Given the description of an element on the screen output the (x, y) to click on. 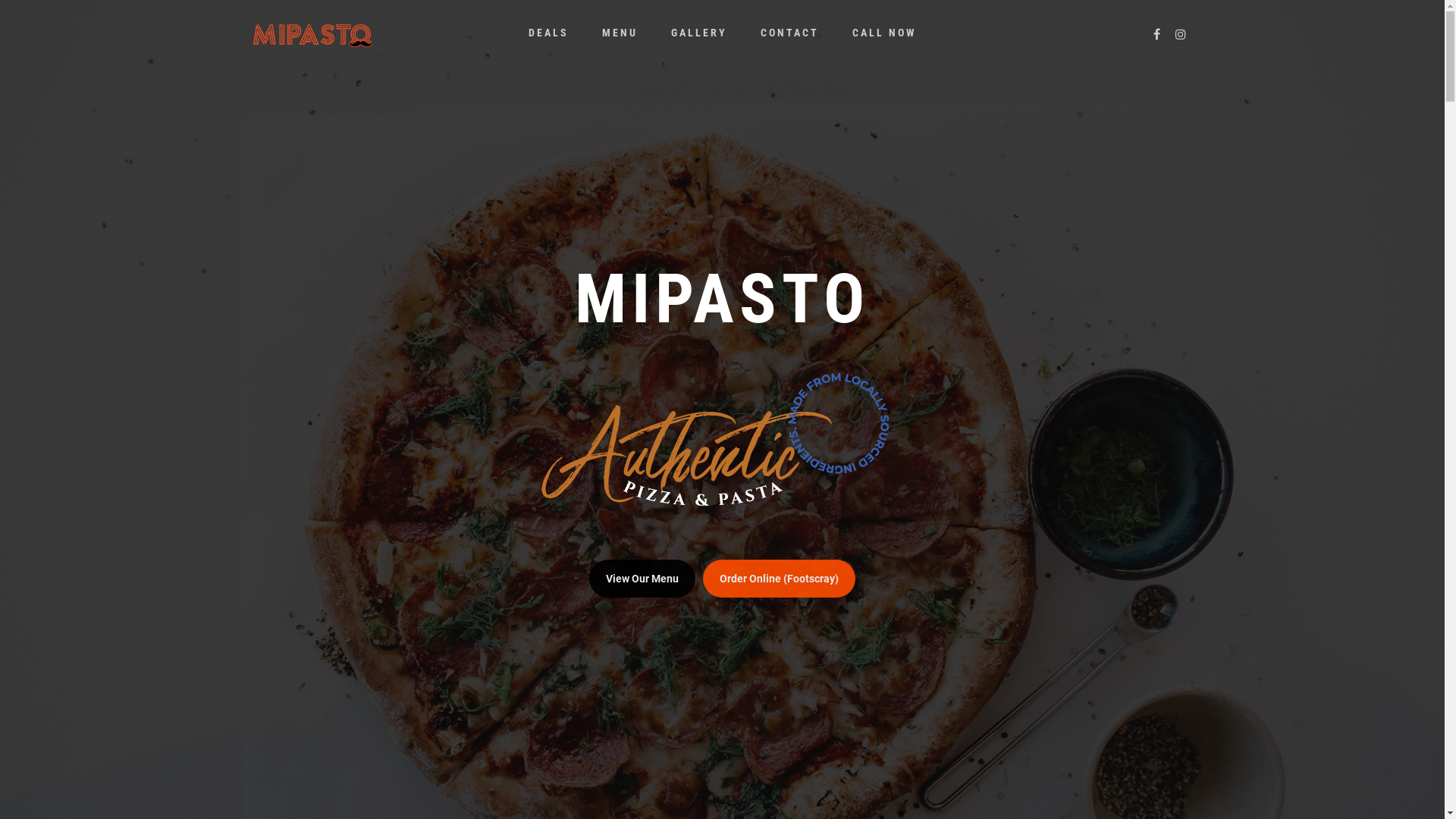
MENU Element type: text (619, 43)
GALLERY Element type: text (698, 43)
Order Online (Footscray) Element type: text (778, 578)
View Our Menu Element type: text (642, 578)
CONTACT Element type: text (788, 43)
CALL NOW Element type: text (884, 43)
DEALS Element type: text (547, 43)
